Given the description of an element on the screen output the (x, y) to click on. 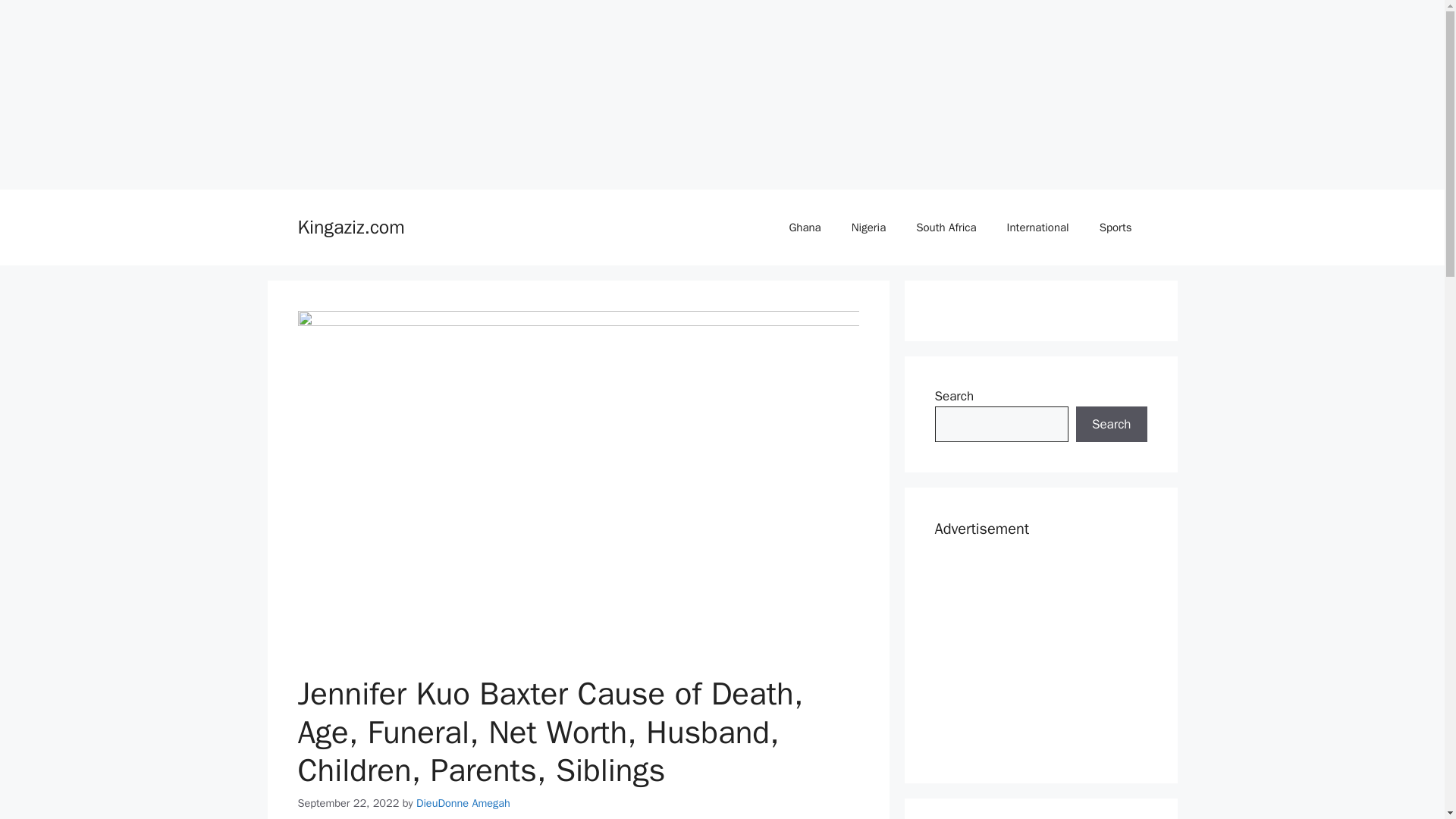
View all posts by DieuDonne Amegah (463, 802)
Kingaziz.com (350, 227)
Search (1111, 424)
Ghana (804, 227)
Sports (1115, 227)
International (1037, 227)
South Africa (946, 227)
DieuDonne Amegah (463, 802)
Nigeria (868, 227)
